Given the description of an element on the screen output the (x, y) to click on. 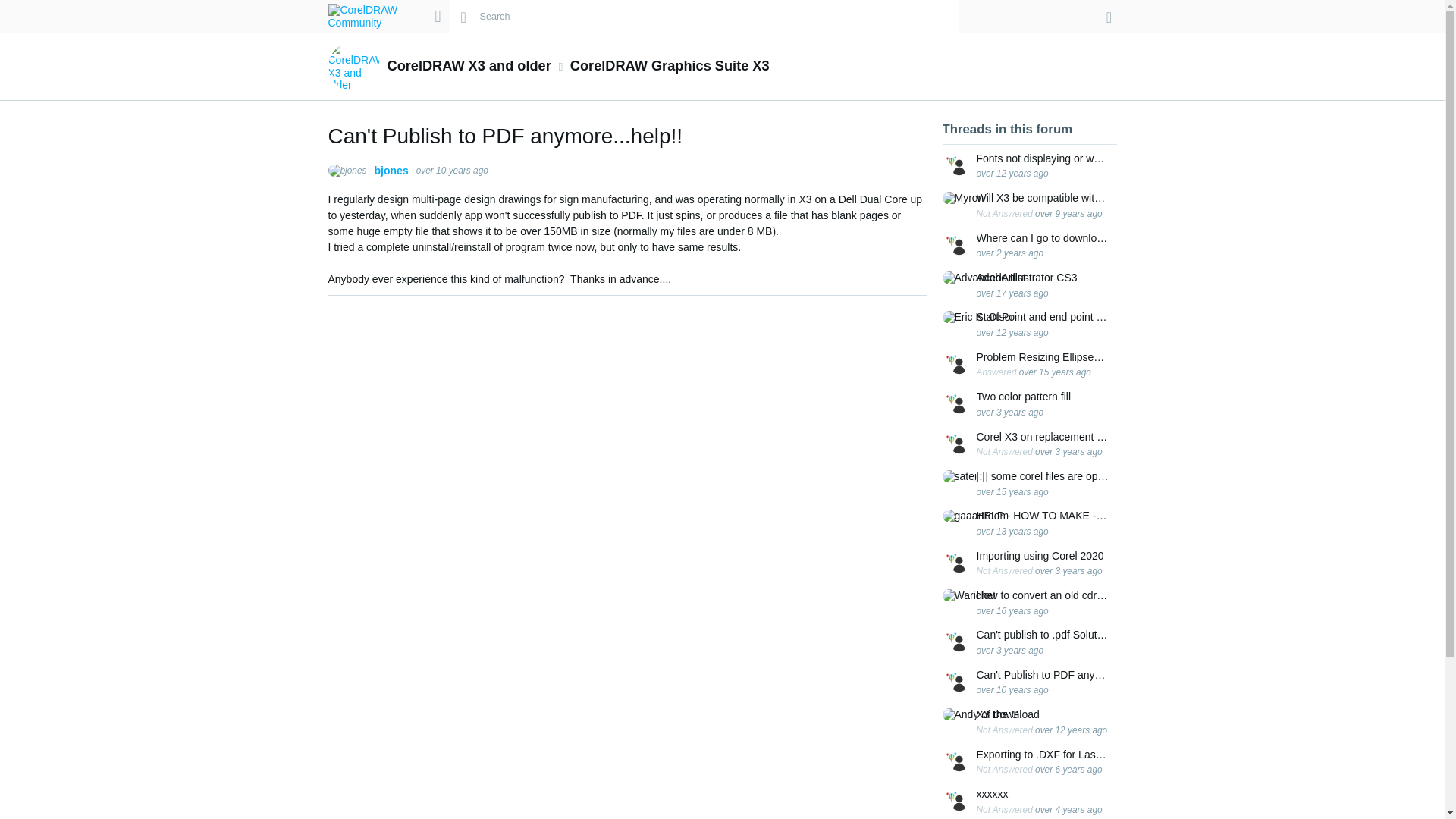
over 17 years ago (1012, 293)
over 15 years ago (1012, 491)
over 2 years ago (1009, 253)
over 12 years ago (1012, 173)
Join or sign in (1108, 17)
Start Point and end point for drawing paths (1042, 317)
over 15 years ago (1054, 371)
over 13 years ago (1012, 531)
HELP - HOW TO MAKE - TEXT TO CURVES MACRO ?? (1042, 515)
Will X3 be compatible with Win10? (1042, 197)
Fonts not displaying or working in X3 on Windows 7 (1042, 158)
over 3 years ago (1009, 412)
Site (437, 15)
Corel X3 on replacement PC (1042, 436)
Importing using Corel 2020 (1039, 555)
